Given the description of an element on the screen output the (x, y) to click on. 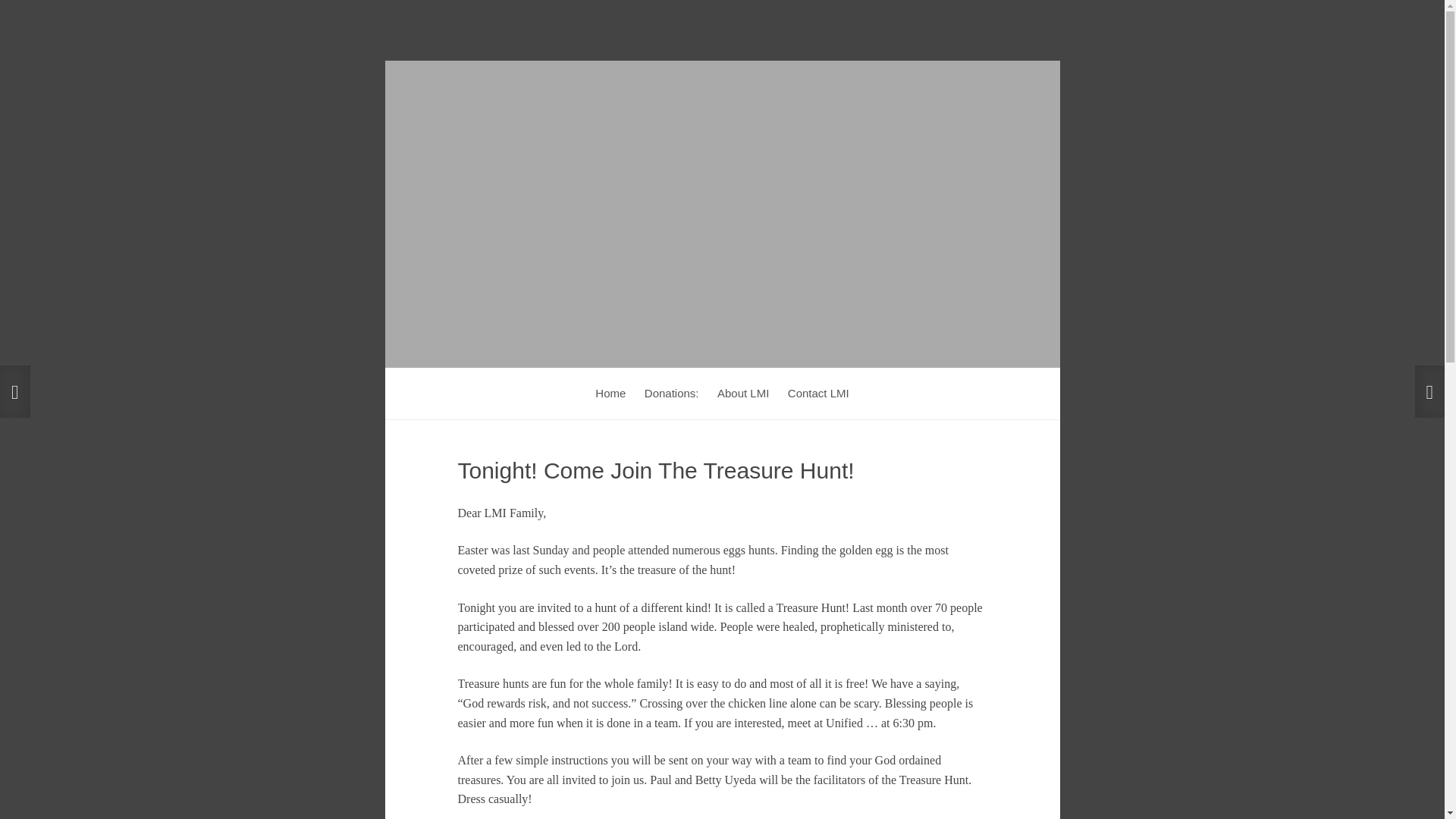
Skip to content (464, 383)
Home (610, 393)
About LMI (743, 393)
Contact LMI (818, 393)
Donations: (671, 393)
